Given the description of an element on the screen output the (x, y) to click on. 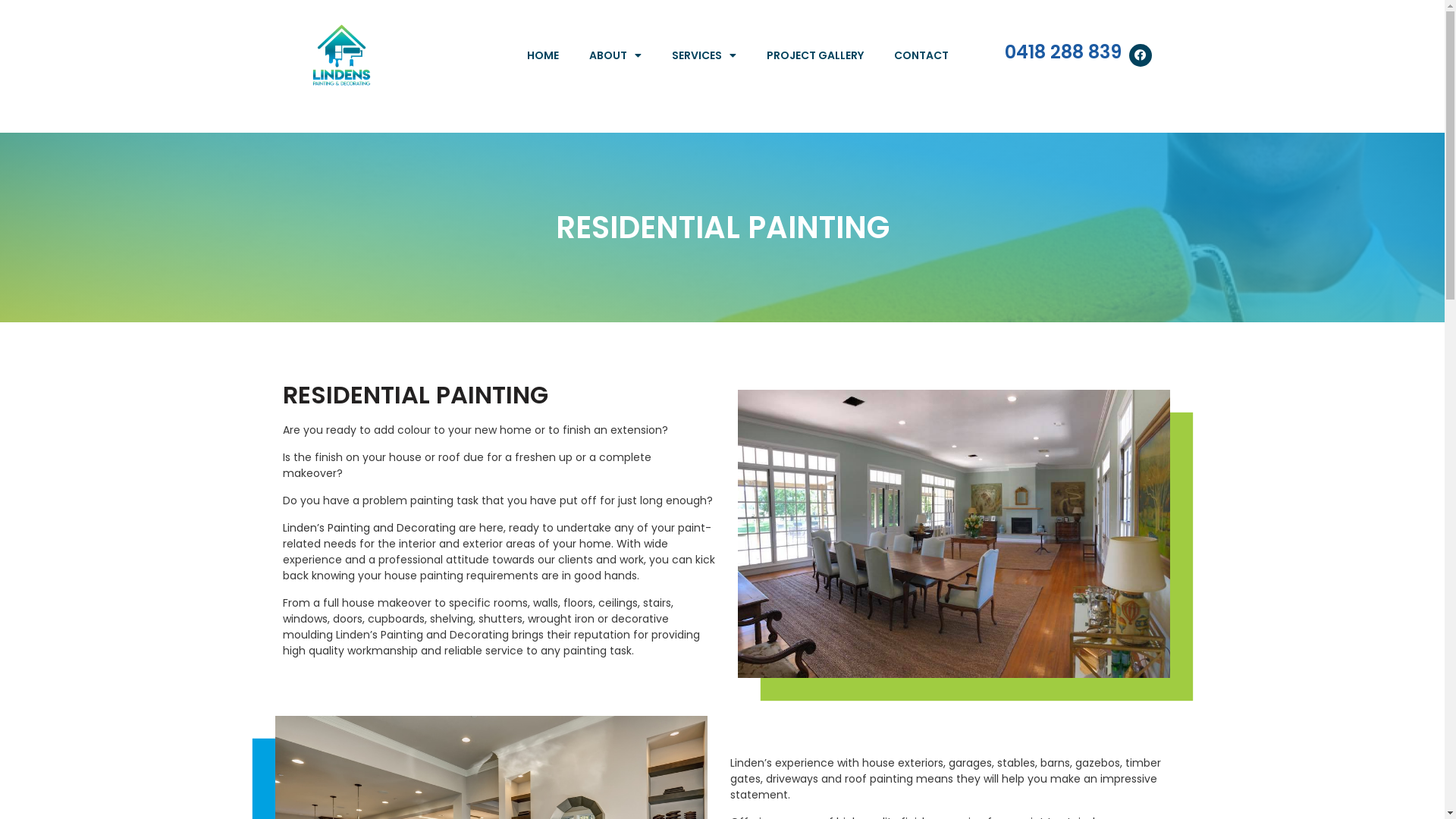
CONTACT Element type: text (920, 54)
0418 288 839 Element type: text (1062, 51)
SERVICES Element type: text (703, 54)
PROJECT GALLERY Element type: text (814, 54)
HOME Element type: text (542, 54)
ABOUT Element type: text (615, 54)
RESIDENTIAL PAINTING - Residential Painting Element type: hover (953, 533)
